Given the description of an element on the screen output the (x, y) to click on. 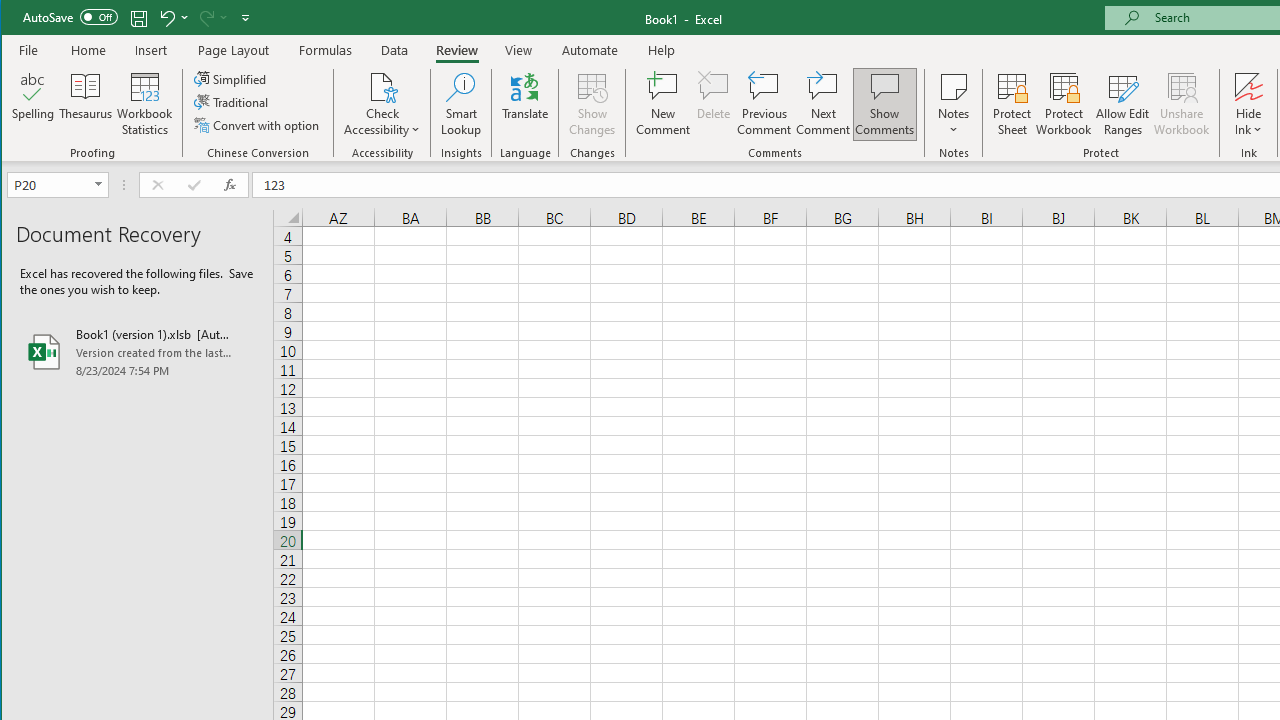
Protect Sheet... (1012, 104)
Previous Comment (763, 104)
Unshare Workbook (1182, 104)
Convert with option (258, 124)
Smart Lookup (461, 104)
Allow Edit Ranges (1123, 104)
